Given the description of an element on the screen output the (x, y) to click on. 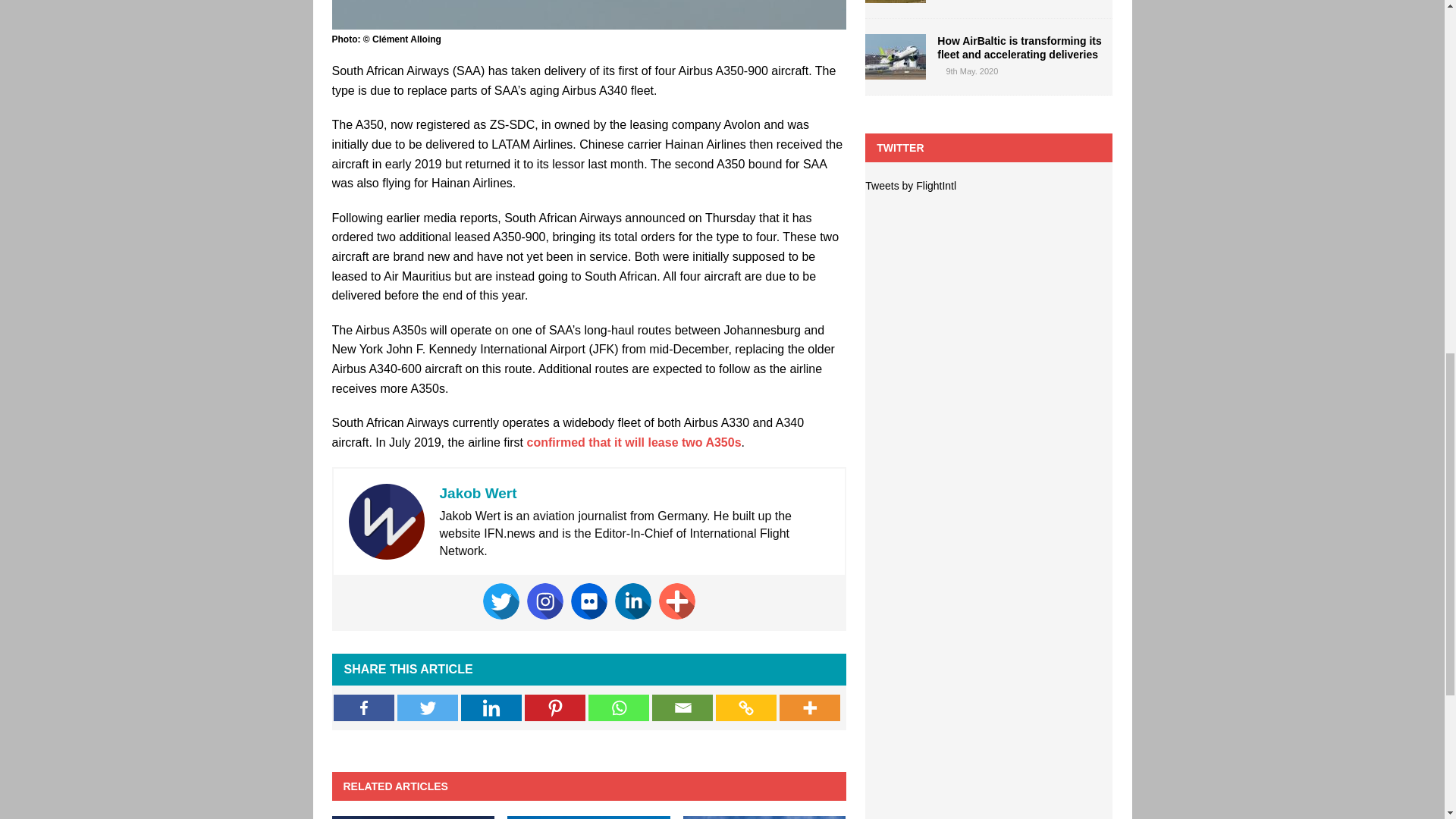
Addthis (677, 601)
Flickr (588, 601)
Linkedin (632, 601)
Airbus A350-900 (588, 14)
Instagram (545, 601)
Twitter (501, 601)
Facebook (363, 707)
Twitter (427, 707)
